Given the description of an element on the screen output the (x, y) to click on. 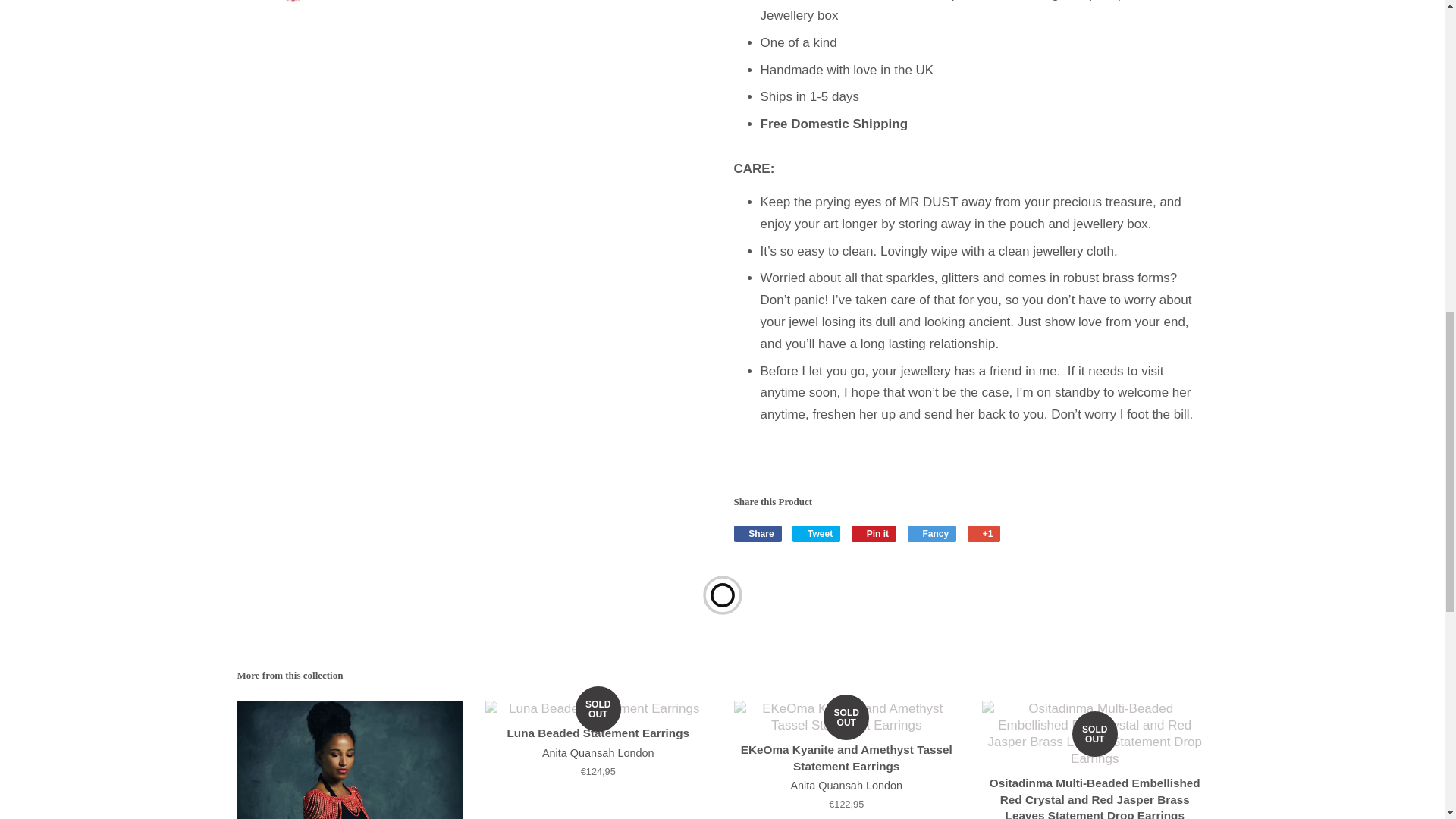
Pin on Pinterest (873, 533)
Tweet on Twitter (816, 533)
Add to Fancy (931, 533)
Share on Facebook (757, 533)
